Given the description of an element on the screen output the (x, y) to click on. 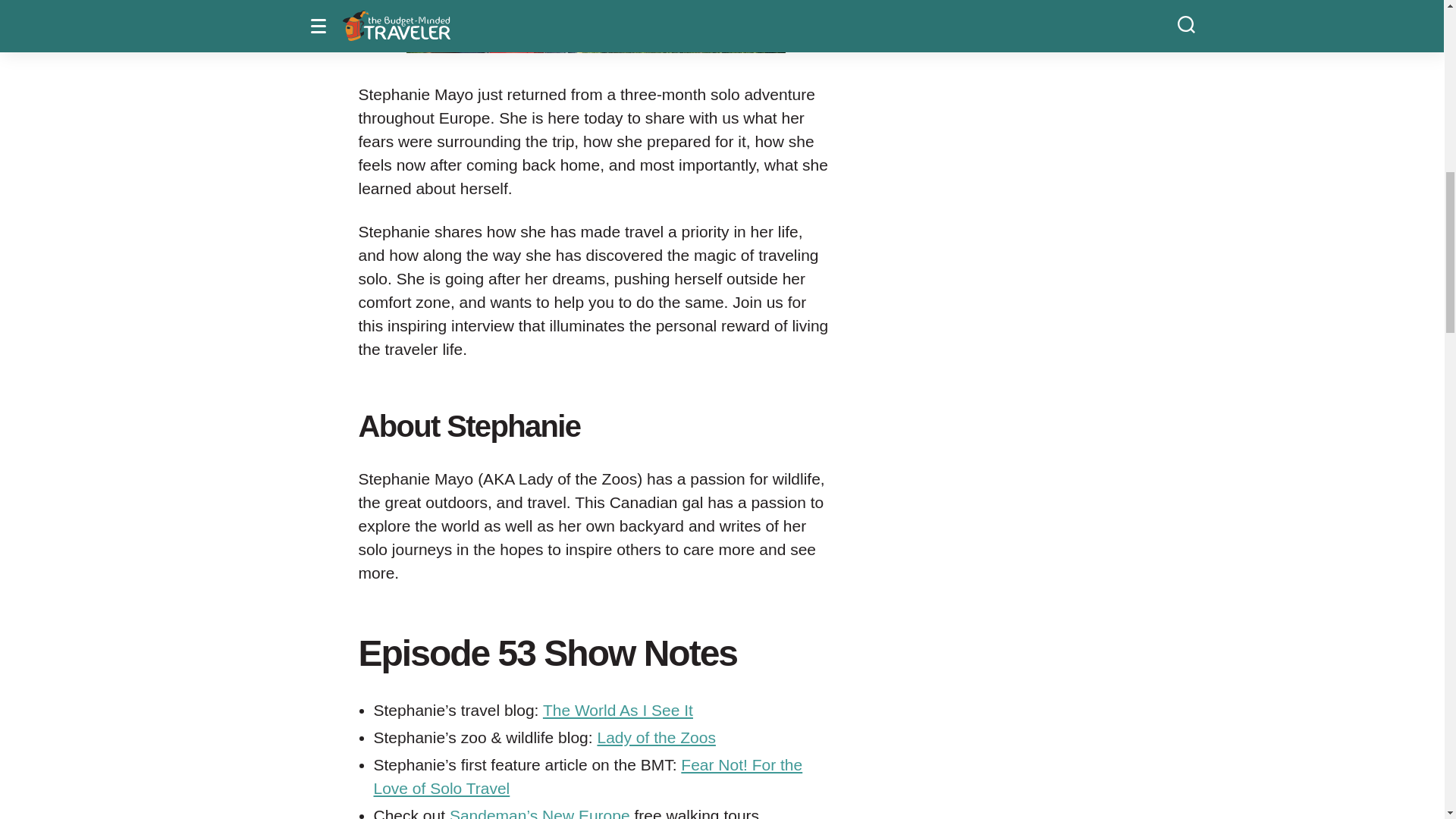
Lady of the Zoos (655, 737)
The World As I See It (618, 710)
Fear Not! For the Love of Solo Travel (587, 775)
